Given the description of an element on the screen output the (x, y) to click on. 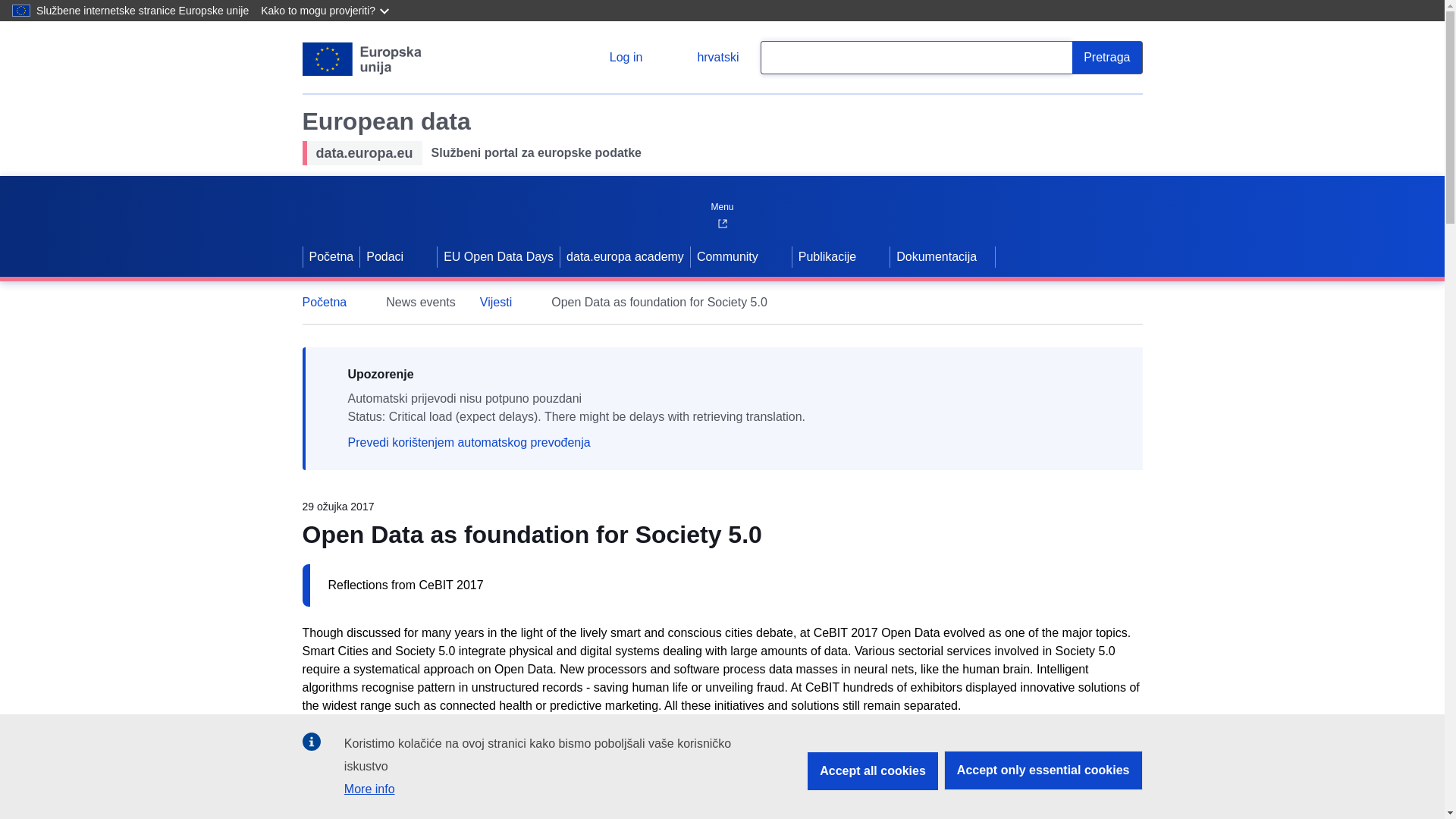
Kako to mogu provjeriti? (325, 10)
data.europa academy (625, 256)
Podaci (382, 256)
European Union (361, 59)
Log in (614, 57)
Dokumentacija (941, 256)
Pretraga (1106, 57)
hrvatski (706, 57)
Community (725, 256)
EU Open Data Days (498, 256)
Menu (721, 203)
Publikacije (825, 256)
